Given the description of an element on the screen output the (x, y) to click on. 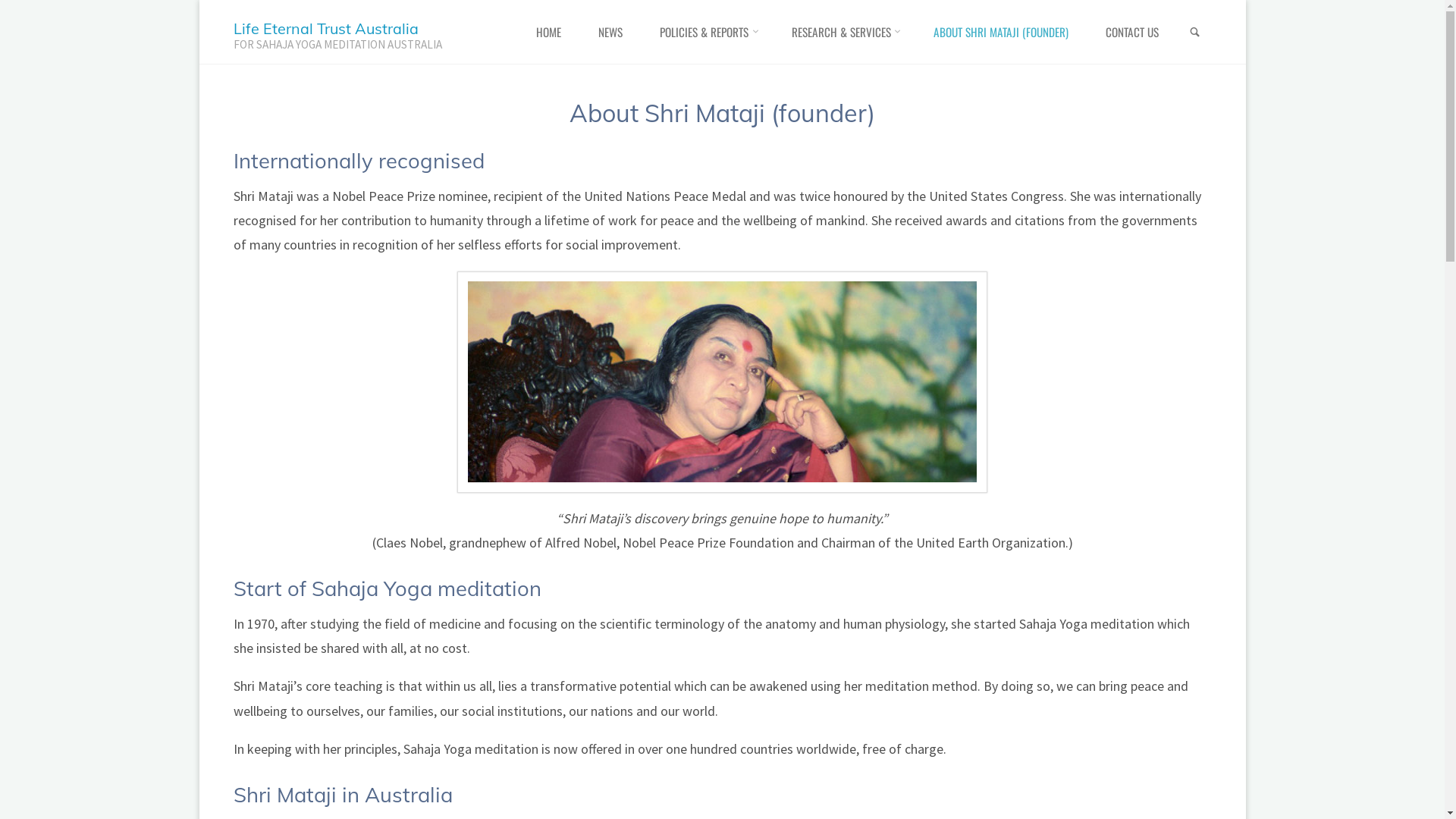
HOME Element type: text (548, 32)
ABOUT SHRI MATAJI (FOUNDER) Element type: text (1001, 32)
POLICIES & REPORTS Element type: text (707, 32)
Life Eternal Trust Australia Element type: text (325, 27)
CONTACT US Element type: text (1132, 32)
SEARCH Element type: text (1194, 32)
NEWS Element type: text (610, 32)
RESEARCH & SERVICES Element type: text (843, 32)
